Given the description of an element on the screen output the (x, y) to click on. 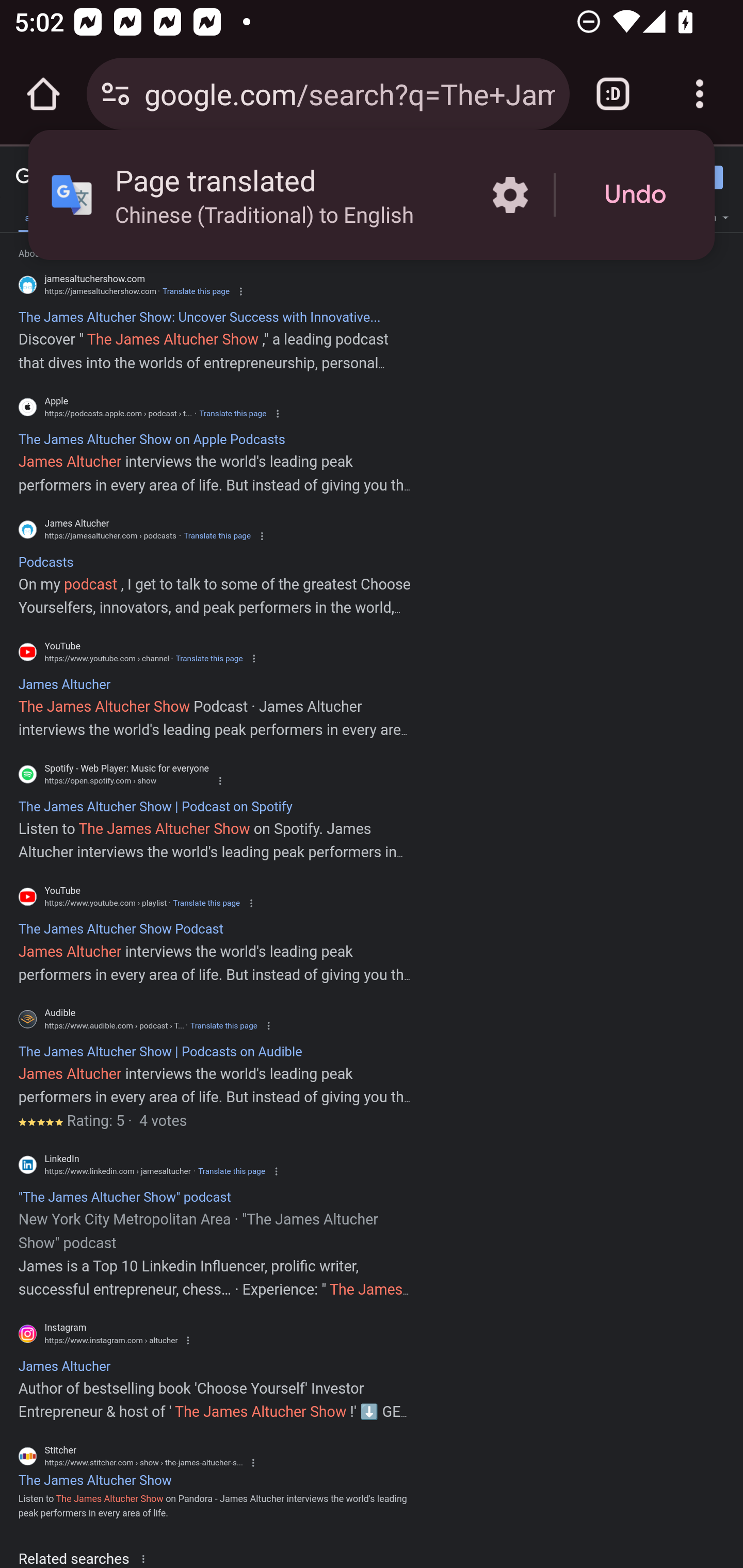
Open the home page (43, 93)
Connection is secure (115, 93)
Switch or close tabs (612, 93)
Customize and control Google Chrome (699, 93)
Undo (634, 195)
More options in the Page translated (509, 195)
Translate this page (195, 291)
Translate this page (232, 413)
Translate this page (217, 535)
Translate this page (208, 658)
Translate this page (206, 902)
Translate this page (223, 1025)
Translate this page (231, 1171)
About this result (146, 1557)
